Given the description of an element on the screen output the (x, y) to click on. 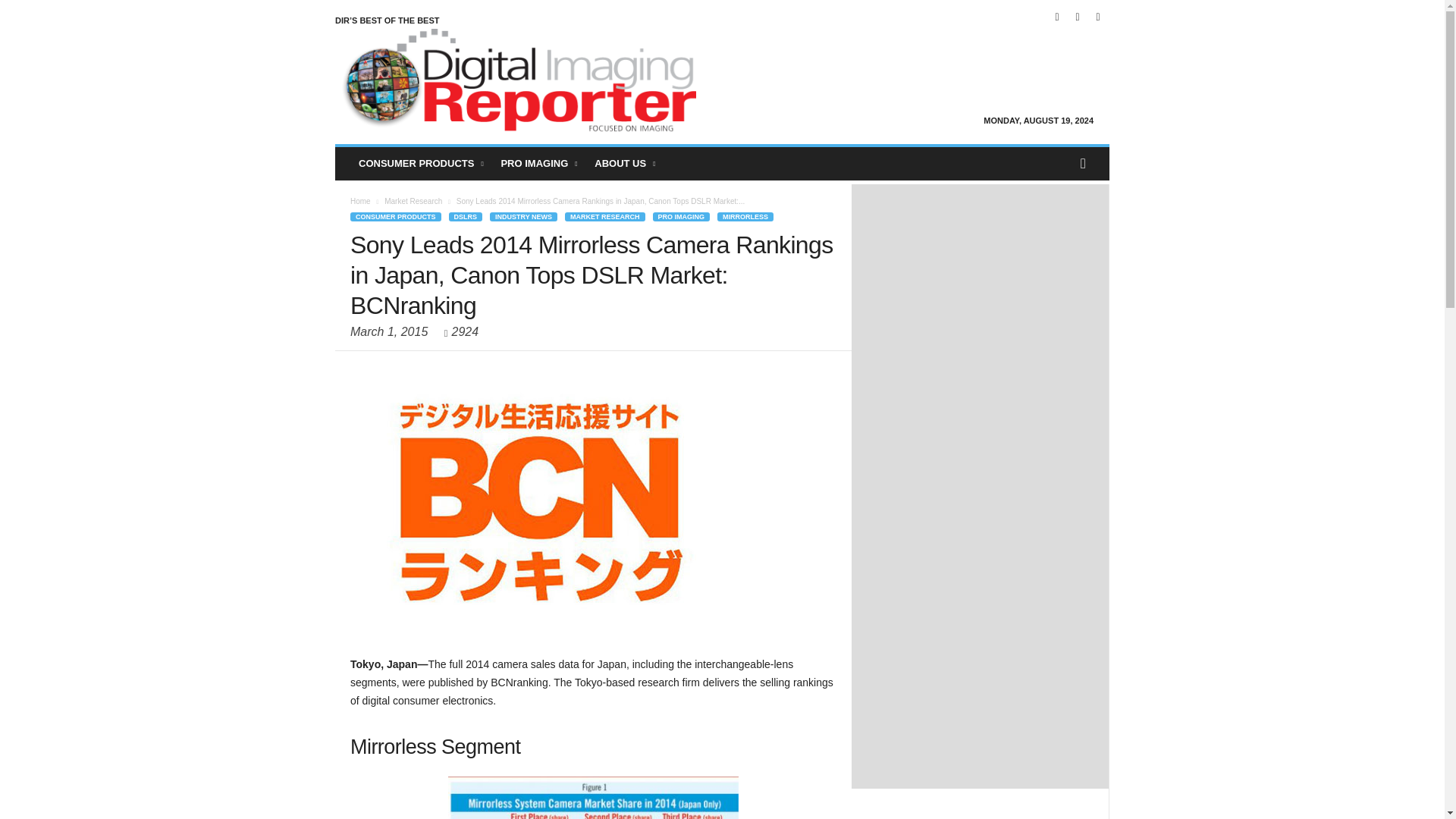
3rd party ad content (980, 484)
Twitter (1097, 17)
Facebook (1056, 17)
3rd party ad content (980, 683)
3rd party ad content (980, 285)
BCNranking-Logo (541, 502)
View all posts in Market Research (413, 201)
CONSUMER PRODUCTS (421, 163)
Instagram (1077, 17)
